Given the description of an element on the screen output the (x, y) to click on. 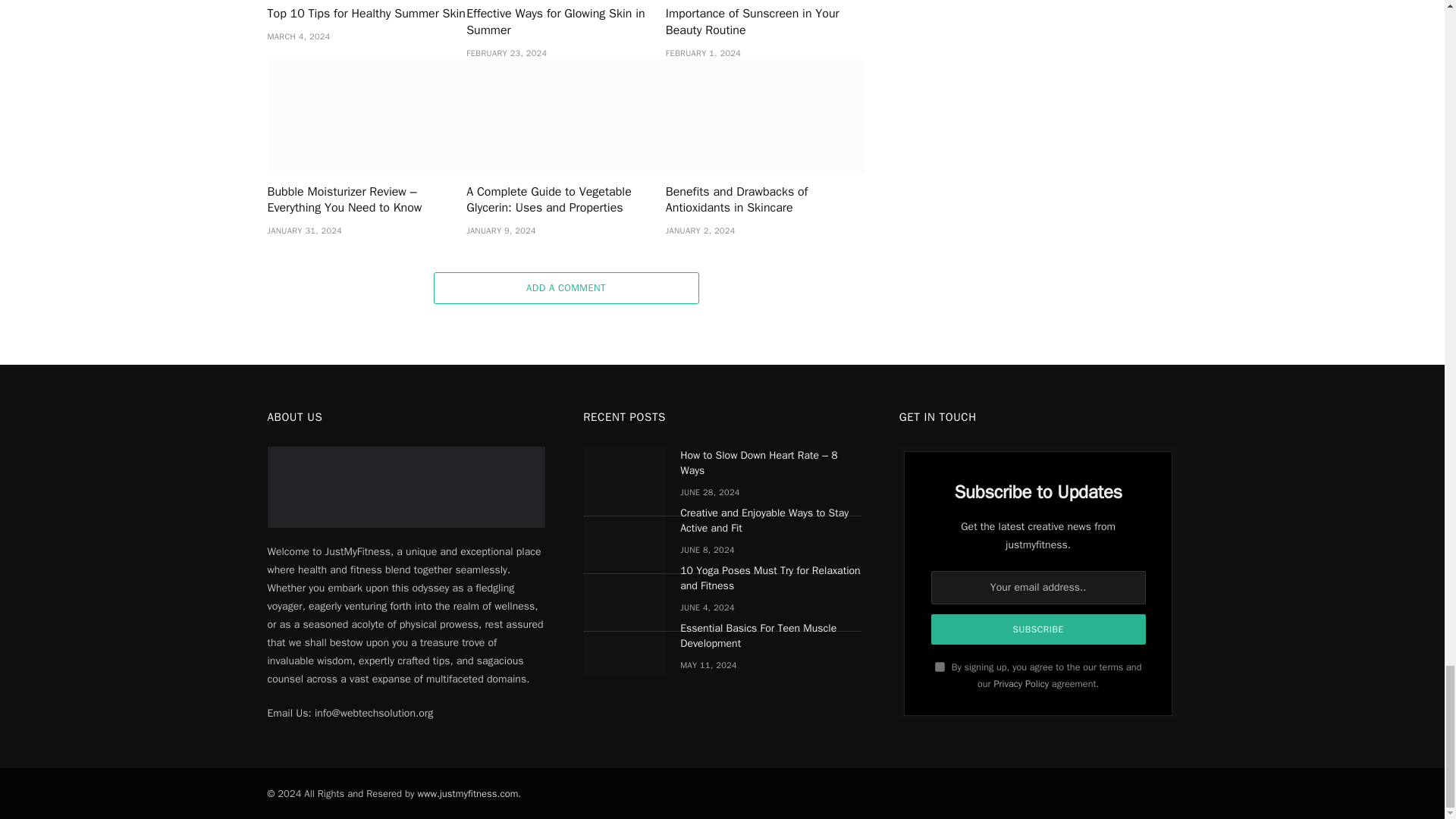
on (939, 666)
Subscribe (1038, 629)
